Given the description of an element on the screen output the (x, y) to click on. 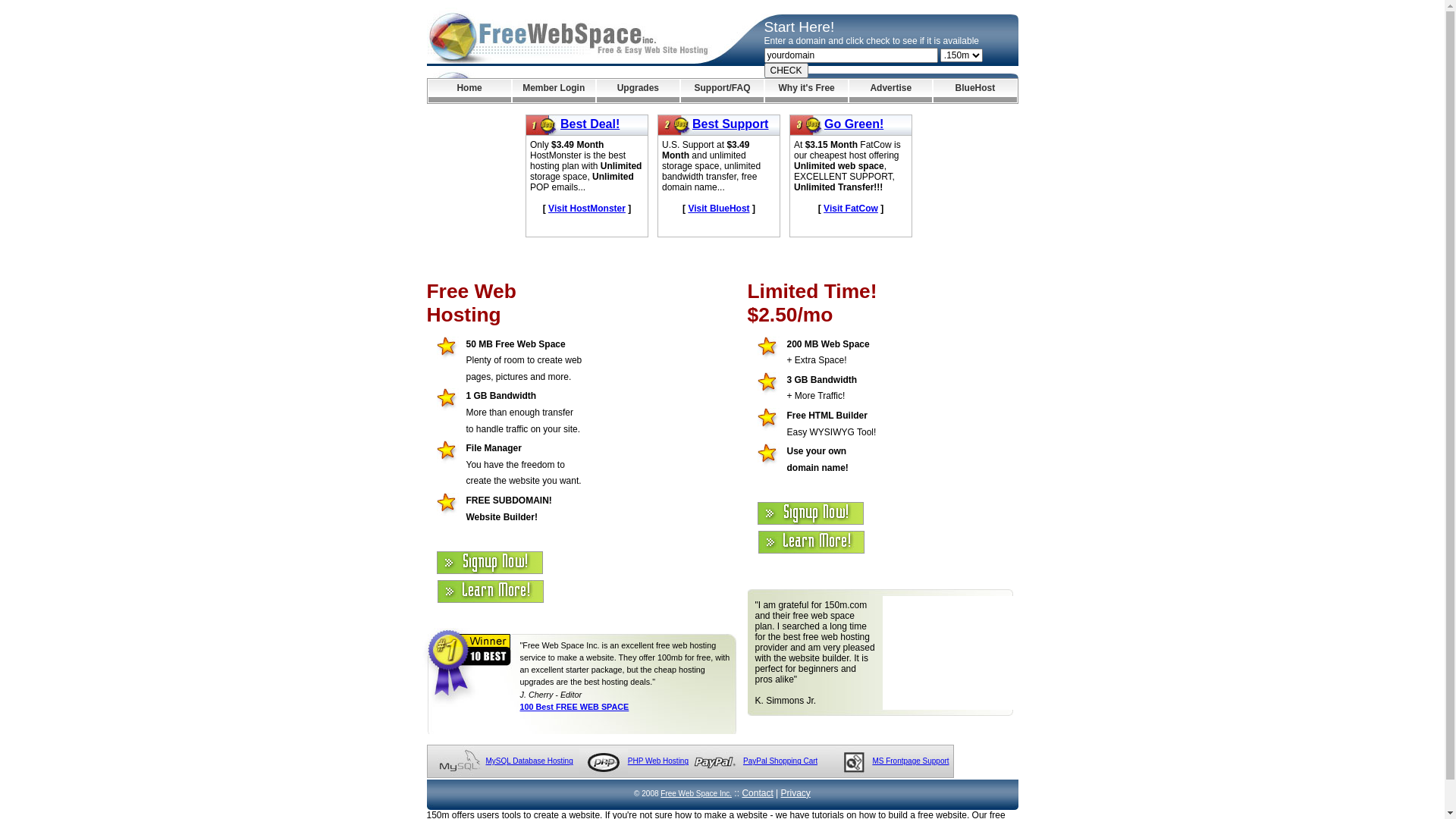
PHP Web Hosting Element type: text (657, 760)
Free Web Space Inc. Element type: text (695, 793)
Advertise Element type: text (890, 90)
CHECK Element type: text (786, 70)
100 Best FREE WEB SPACE Element type: text (574, 706)
Why it's Free Element type: text (806, 90)
Privacy Element type: text (795, 792)
Upgrades Element type: text (637, 90)
BlueHost Element type: text (974, 90)
Member Login Element type: text (553, 90)
Contact Element type: text (756, 792)
MS Frontpage Support Element type: text (910, 760)
MySQL Database Hosting Element type: text (528, 760)
PayPal Shopping Cart Element type: text (780, 760)
Home Element type: text (468, 90)
Support/FAQ Element type: text (721, 90)
